Given the description of an element on the screen output the (x, y) to click on. 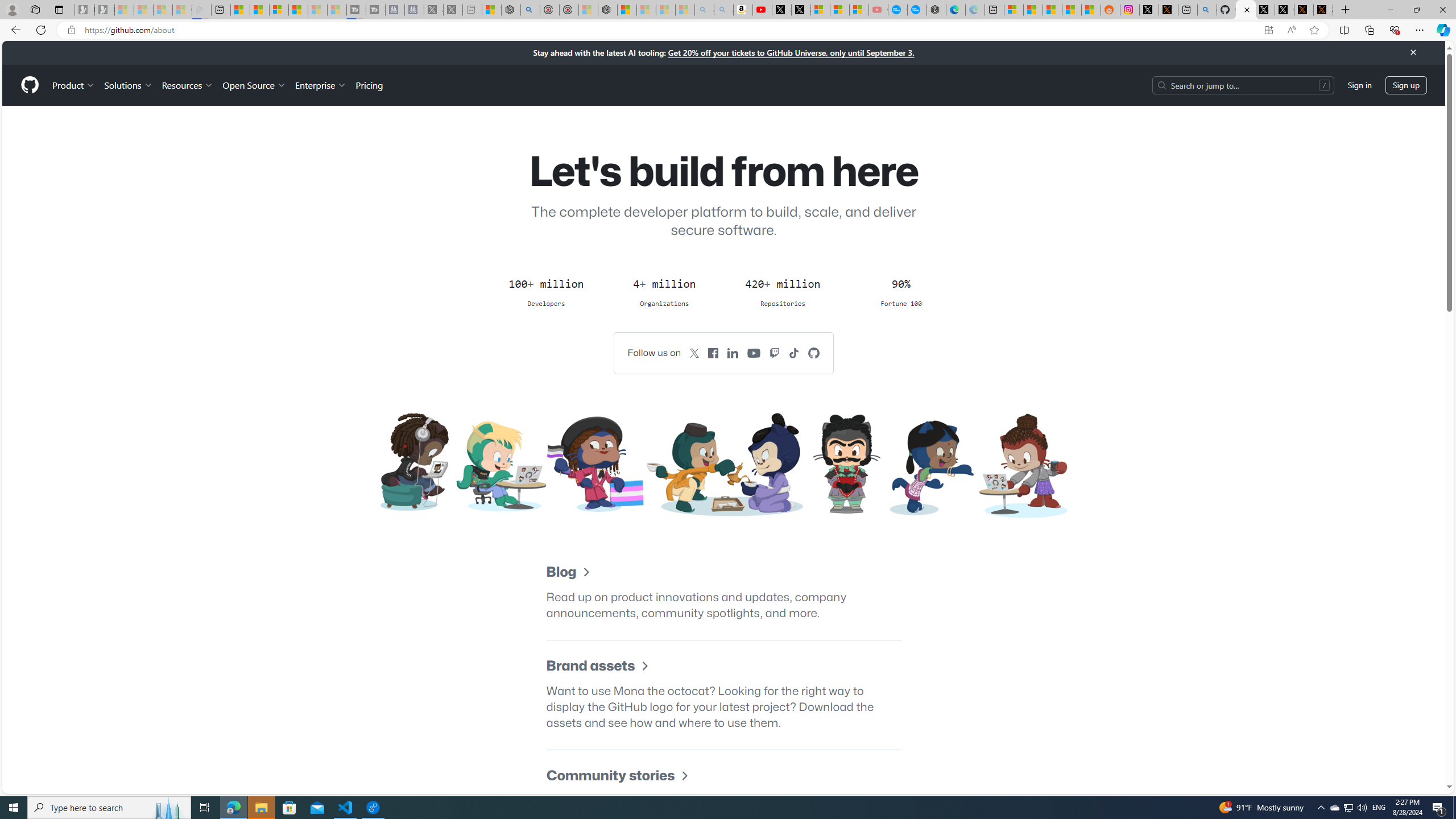
Homepage (29, 85)
GitHub on TikTok (794, 352)
